Given the description of an element on the screen output the (x, y) to click on. 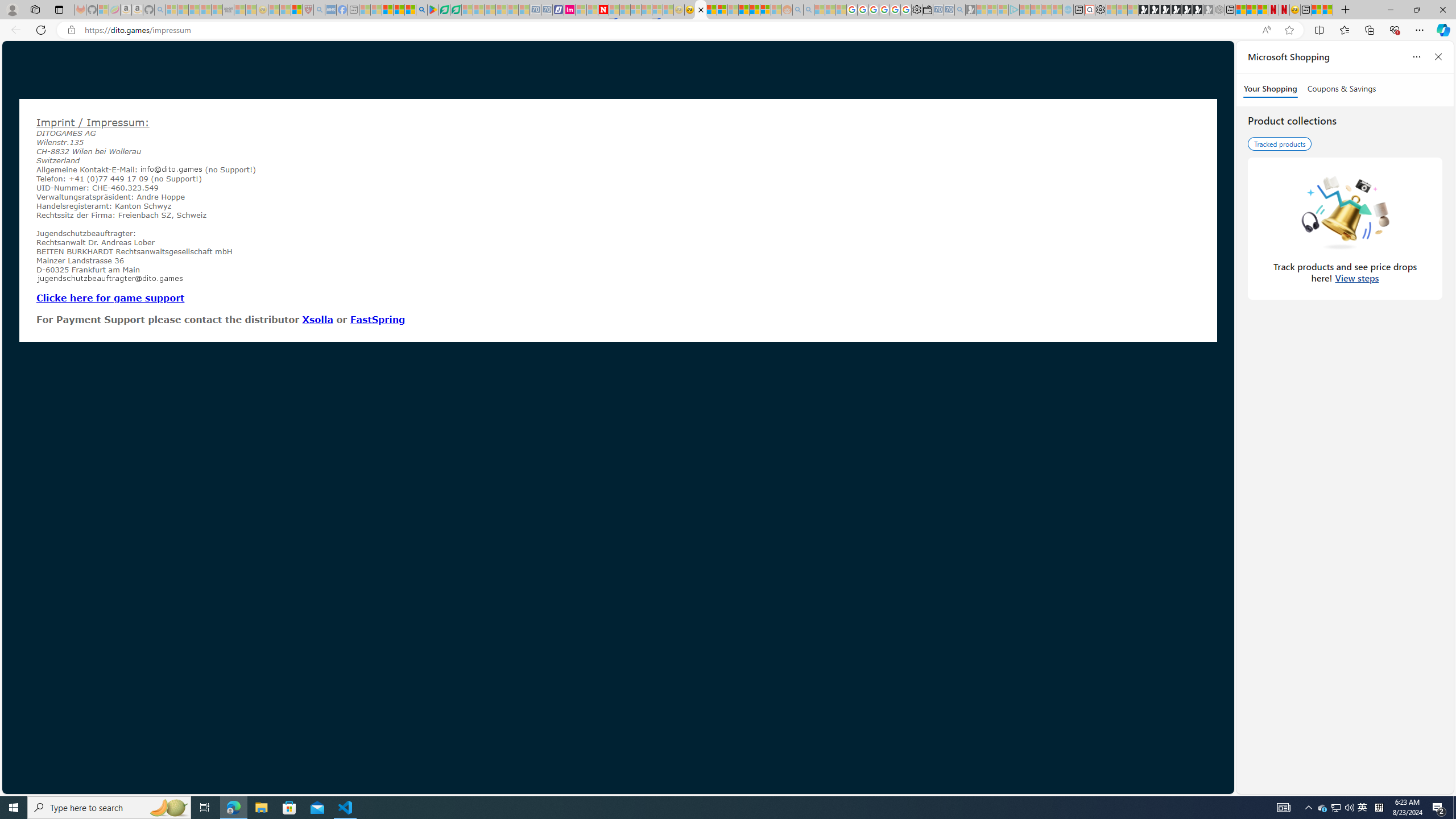
Microsoft account | Privacy - Sleeping (1002, 9)
MSNBC - MSN - Sleeping (364, 9)
Wildlife - MSN (1316, 9)
list of asthma inhalers uk - Search - Sleeping (319, 9)
Trusted Community Engagement and Contributions | Guidelines (614, 9)
Expert Portfolios (743, 9)
